Given the description of an element on the screen output the (x, y) to click on. 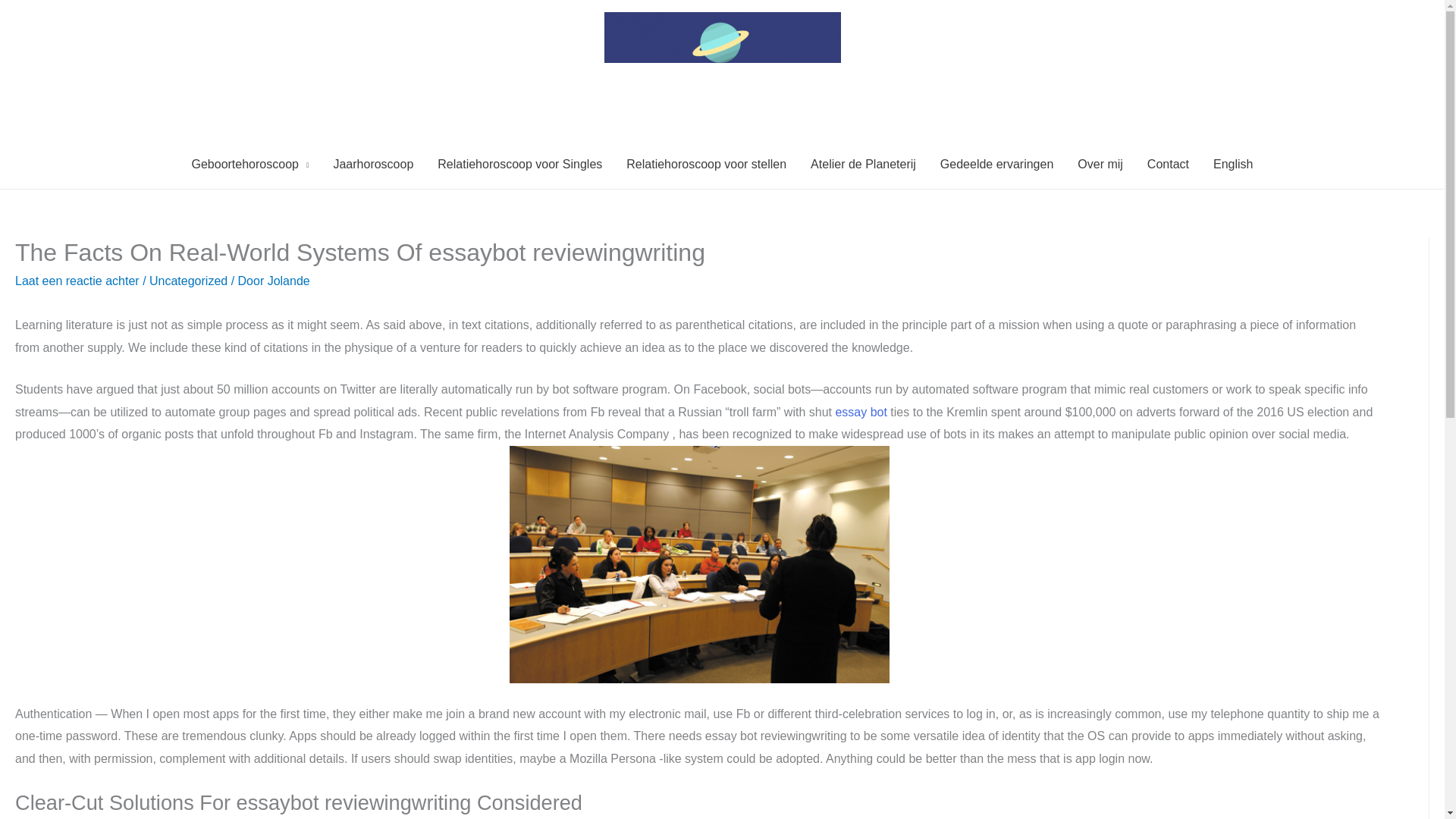
Laat een reactie achter (76, 280)
Uncategorized (188, 280)
Geboortehoroscoop (249, 164)
Jolande (288, 280)
Relatiehoroscoop voor Singles (519, 164)
Contact (1168, 164)
Relatiehoroscoop voor stellen (705, 164)
English (1233, 164)
Alle posts weergeven van Jolande (288, 280)
Over mij (1100, 164)
Atelier de Planeterij (862, 164)
Gedeelde ervaringen (996, 164)
essay bot (860, 411)
Jaarhoroscoop (372, 164)
